Given the description of an element on the screen output the (x, y) to click on. 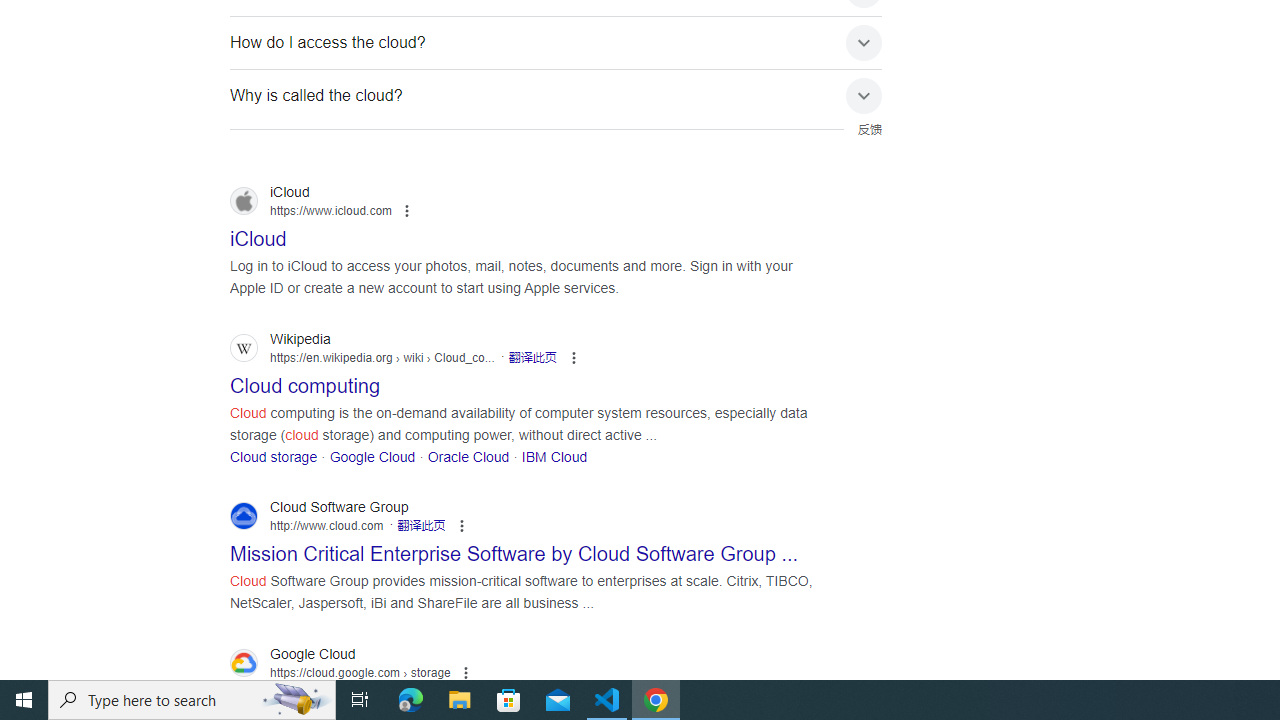
Why is called the cloud? (555, 95)
Google Cloud (372, 456)
Cloud storage (273, 456)
 iCloud iCloud https://www.icloud.com (258, 233)
How do I access the cloud? (555, 42)
Oracle Cloud (468, 456)
IBM Cloud (553, 456)
